Given the description of an element on the screen output the (x, y) to click on. 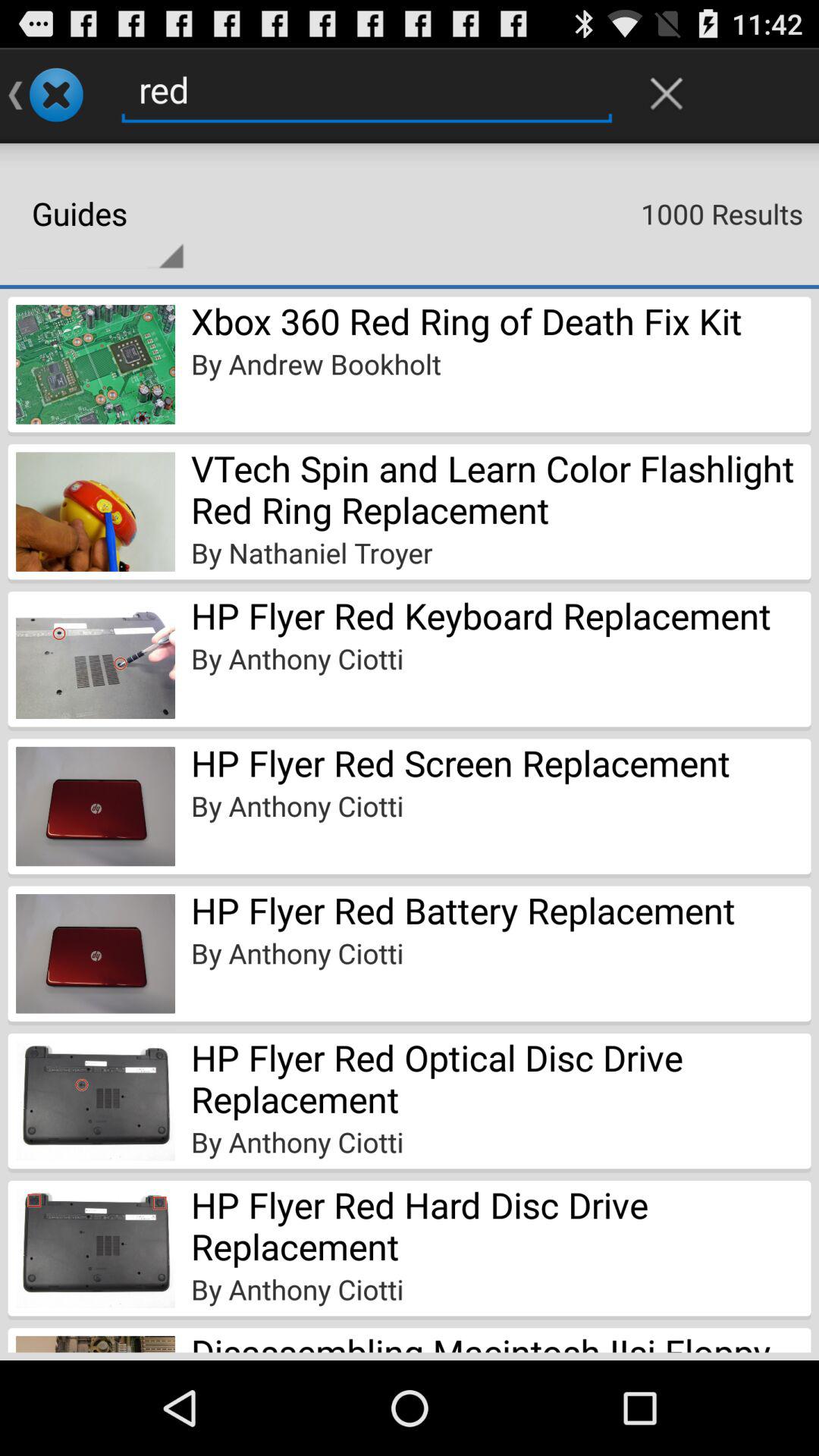
choose icon above vtech spin and (316, 363)
